Given the description of an element on the screen output the (x, y) to click on. 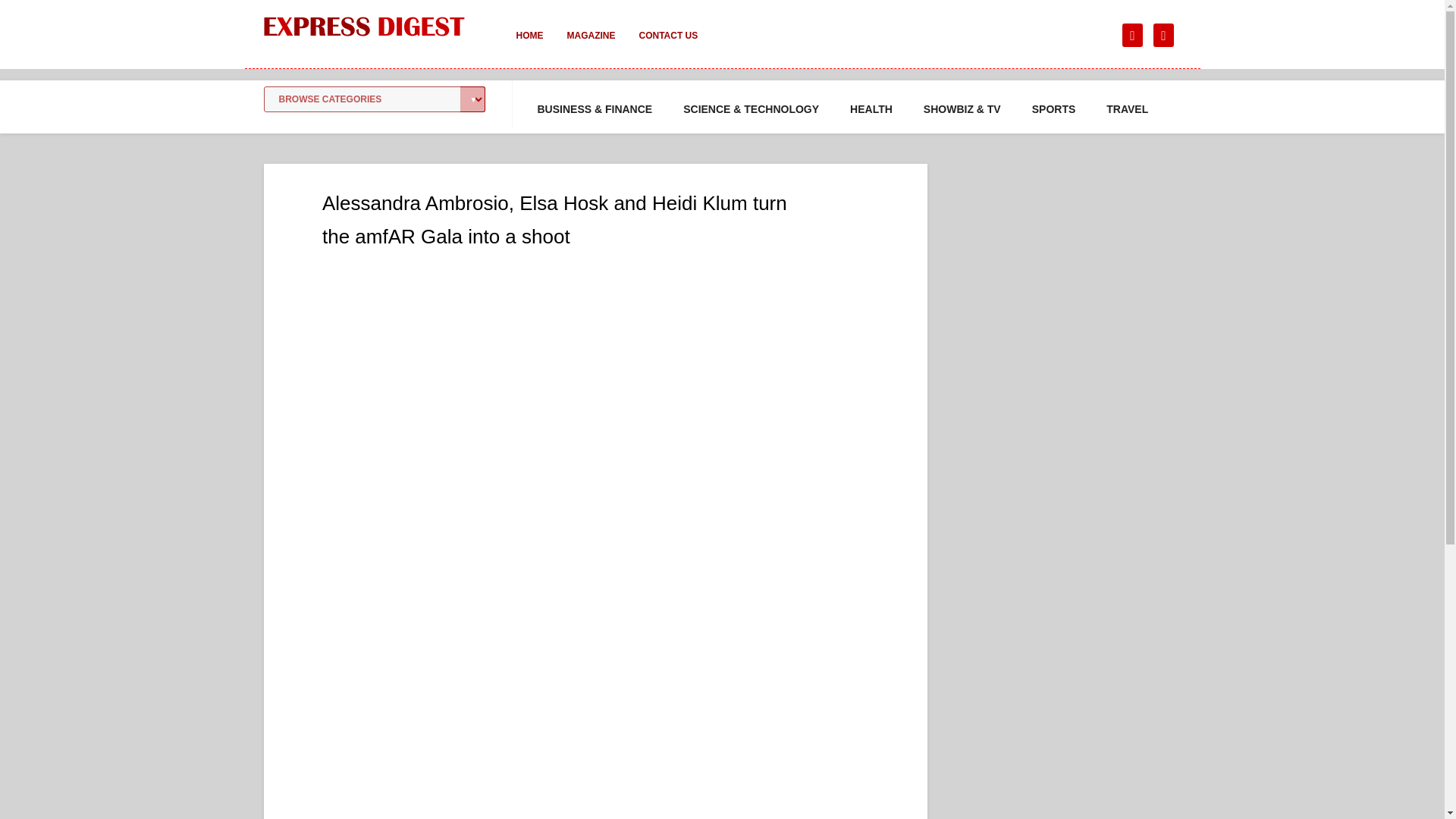
SPORTS (1053, 109)
HEALTH (871, 109)
MAGAZINE (590, 45)
TRAVEL (1127, 109)
CONTACT US (667, 45)
